Given the description of an element on the screen output the (x, y) to click on. 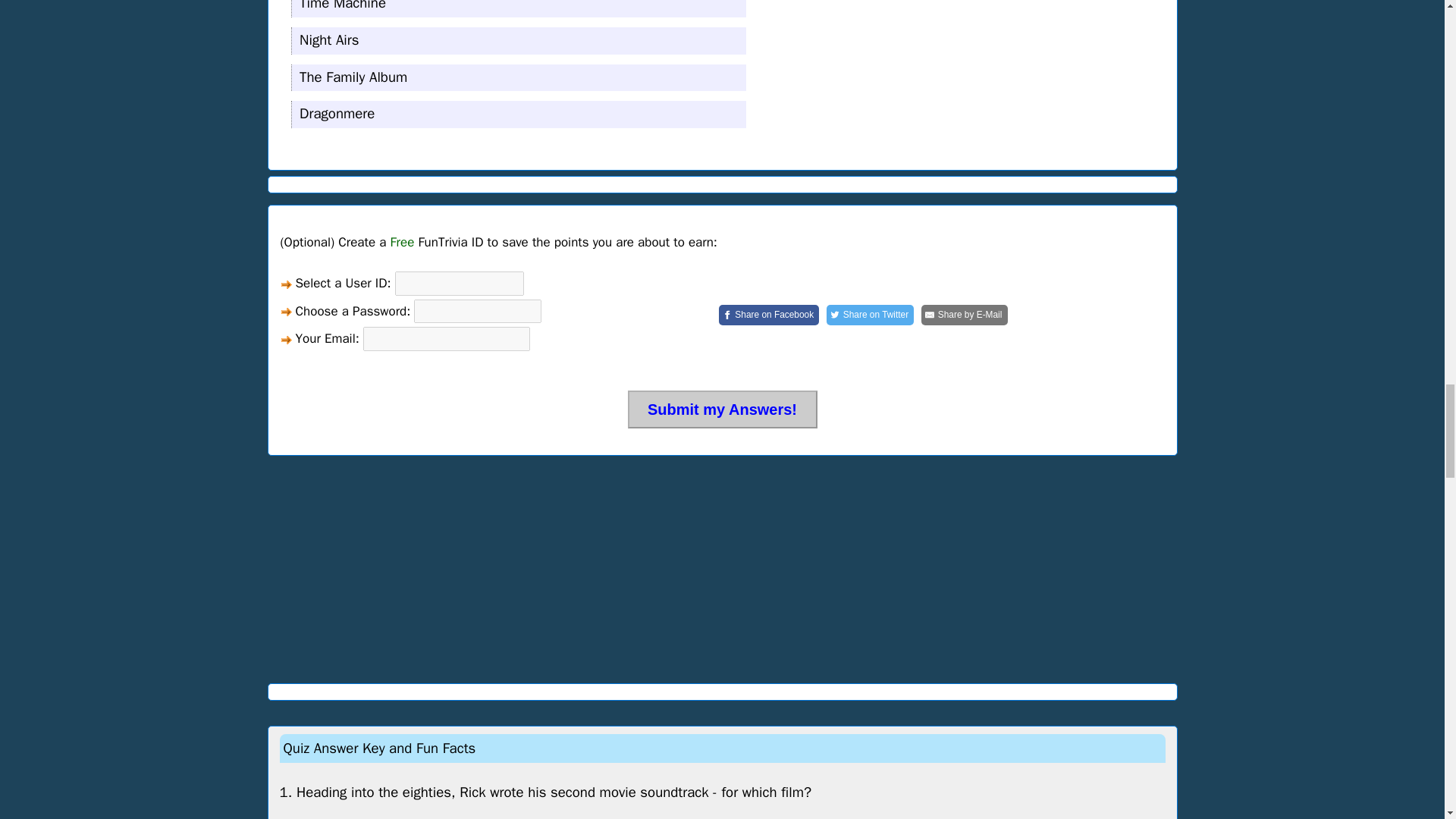
Submit my Answers! (721, 409)
